Given the description of an element on the screen output the (x, y) to click on. 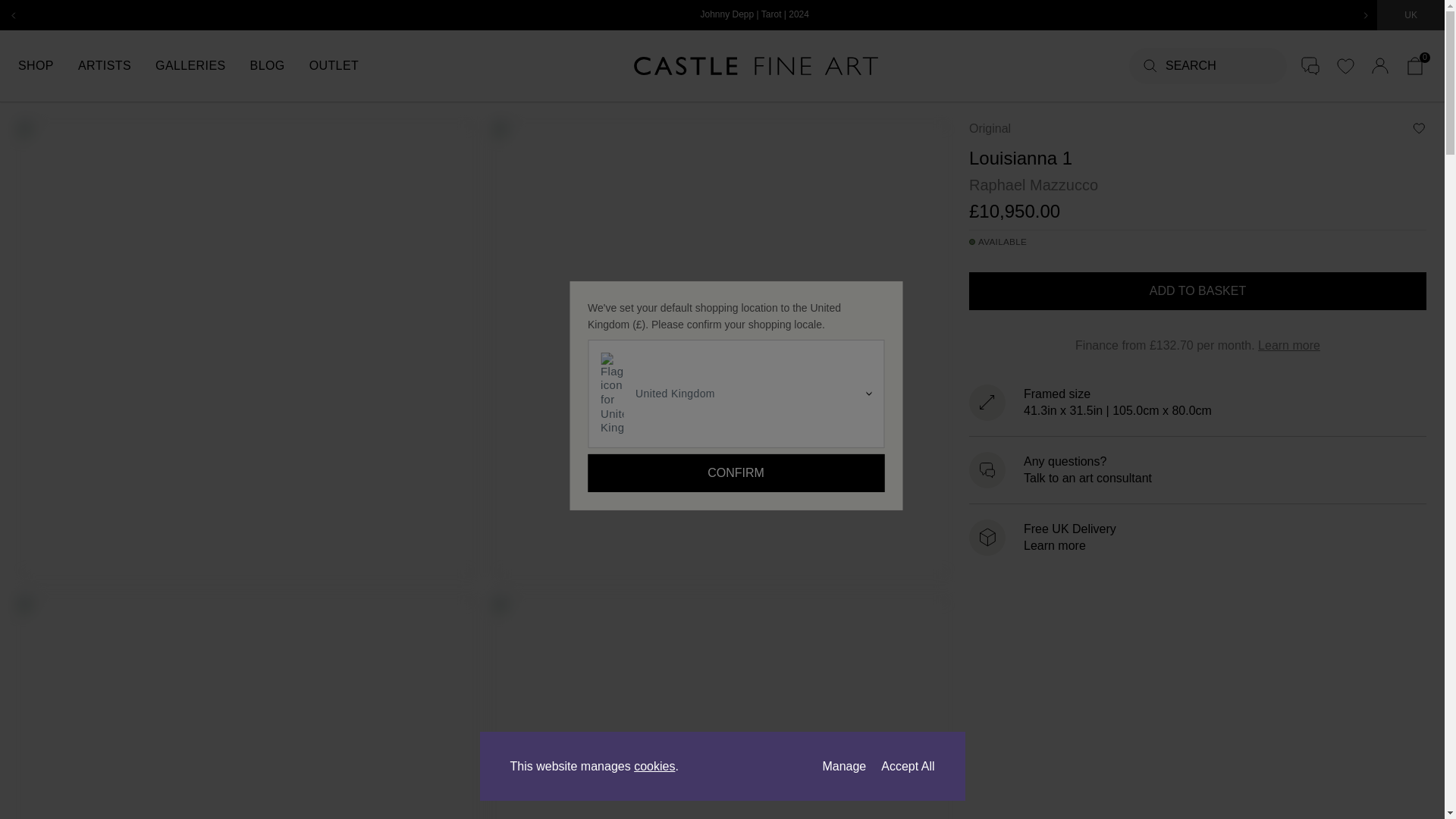
ARTISTS (116, 65)
OUTLET (346, 65)
0 (1414, 65)
GALLERIES (202, 65)
SHOP (47, 65)
BLOG (279, 65)
